Given the description of an element on the screen output the (x, y) to click on. 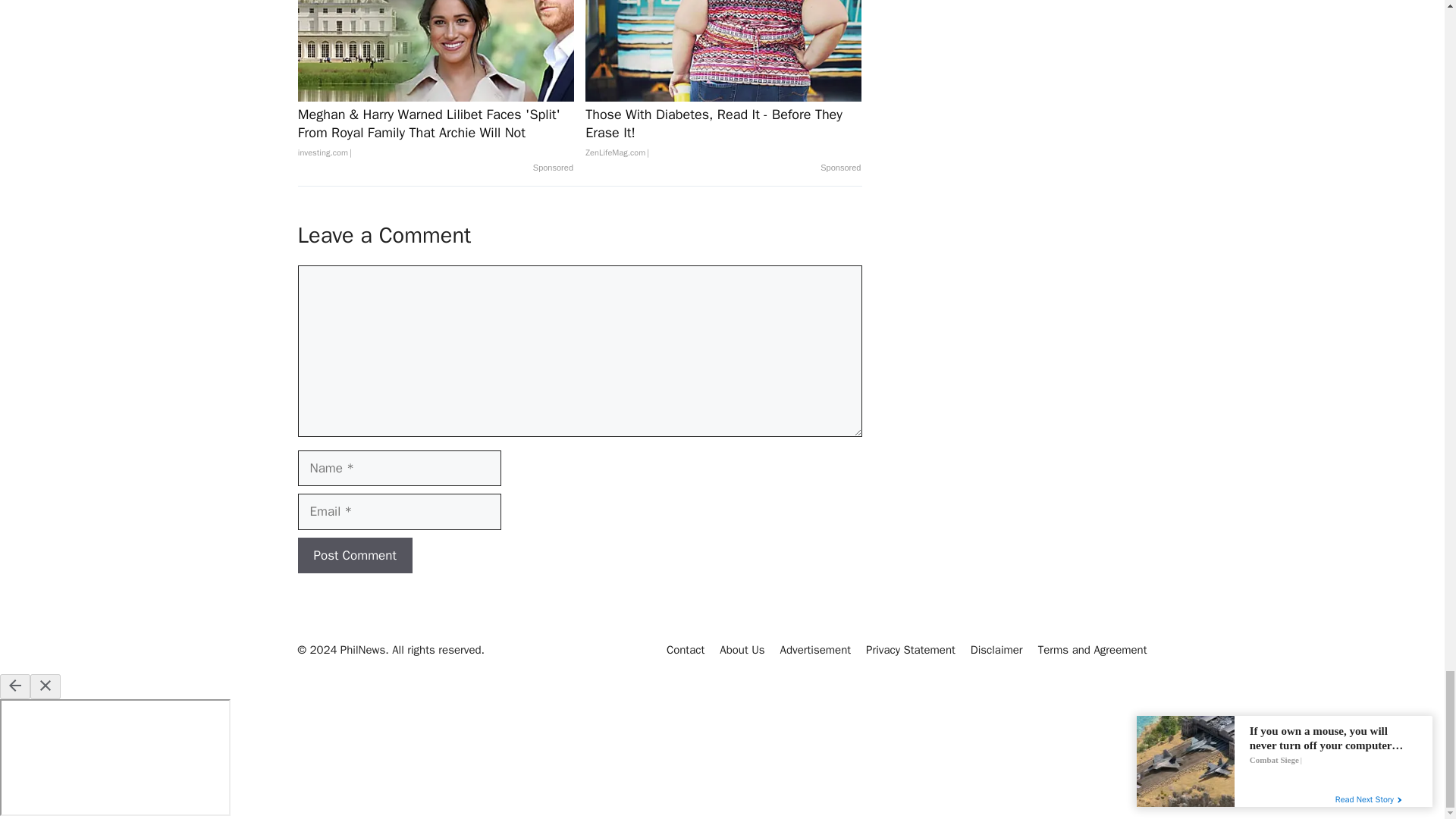
Post Comment (354, 555)
